Given the description of an element on the screen output the (x, y) to click on. 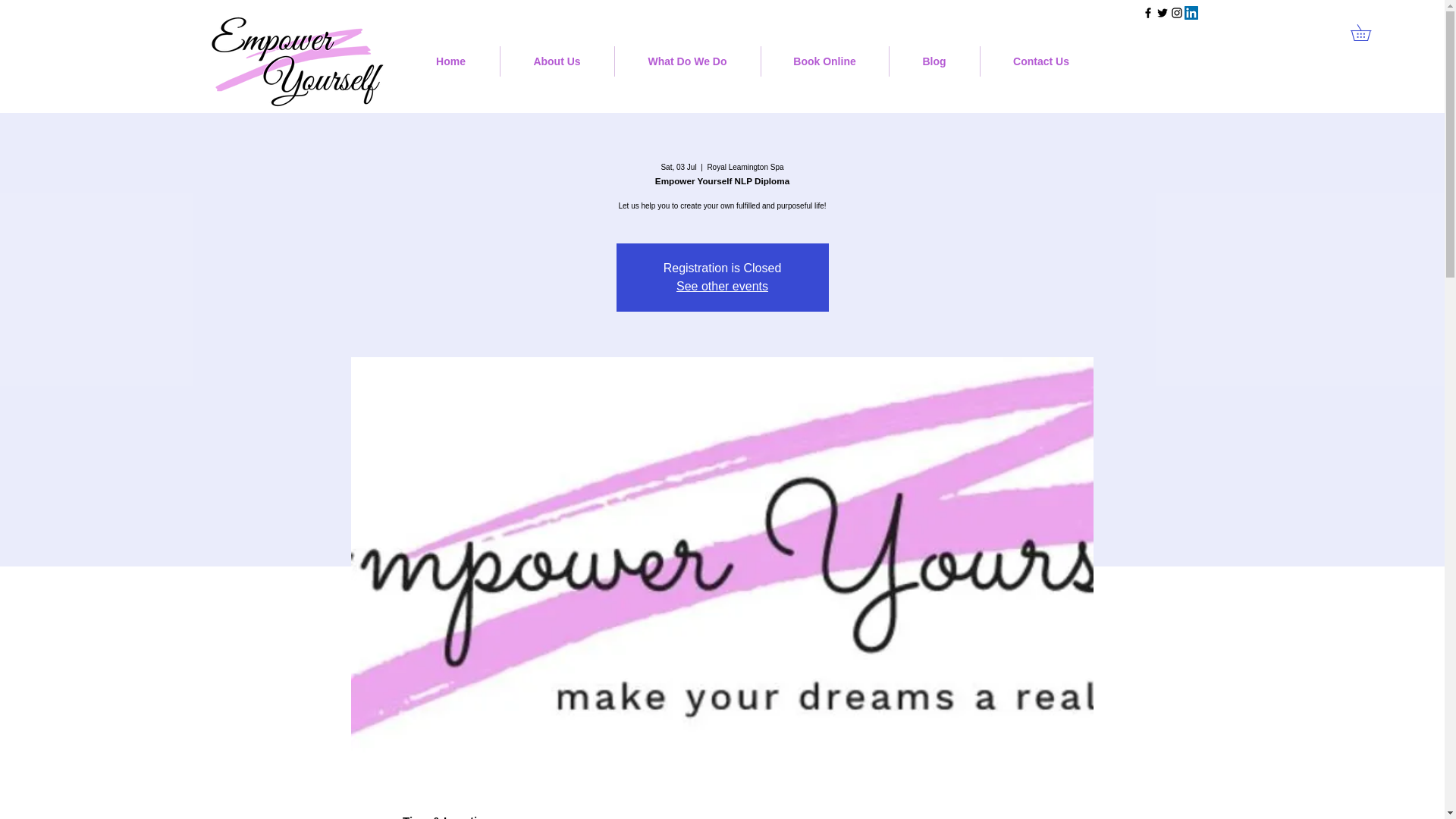
Contact Us (1040, 60)
About Us (557, 60)
See other events (722, 286)
Blog (933, 60)
Book Online (824, 60)
Home (450, 60)
